Given the description of an element on the screen output the (x, y) to click on. 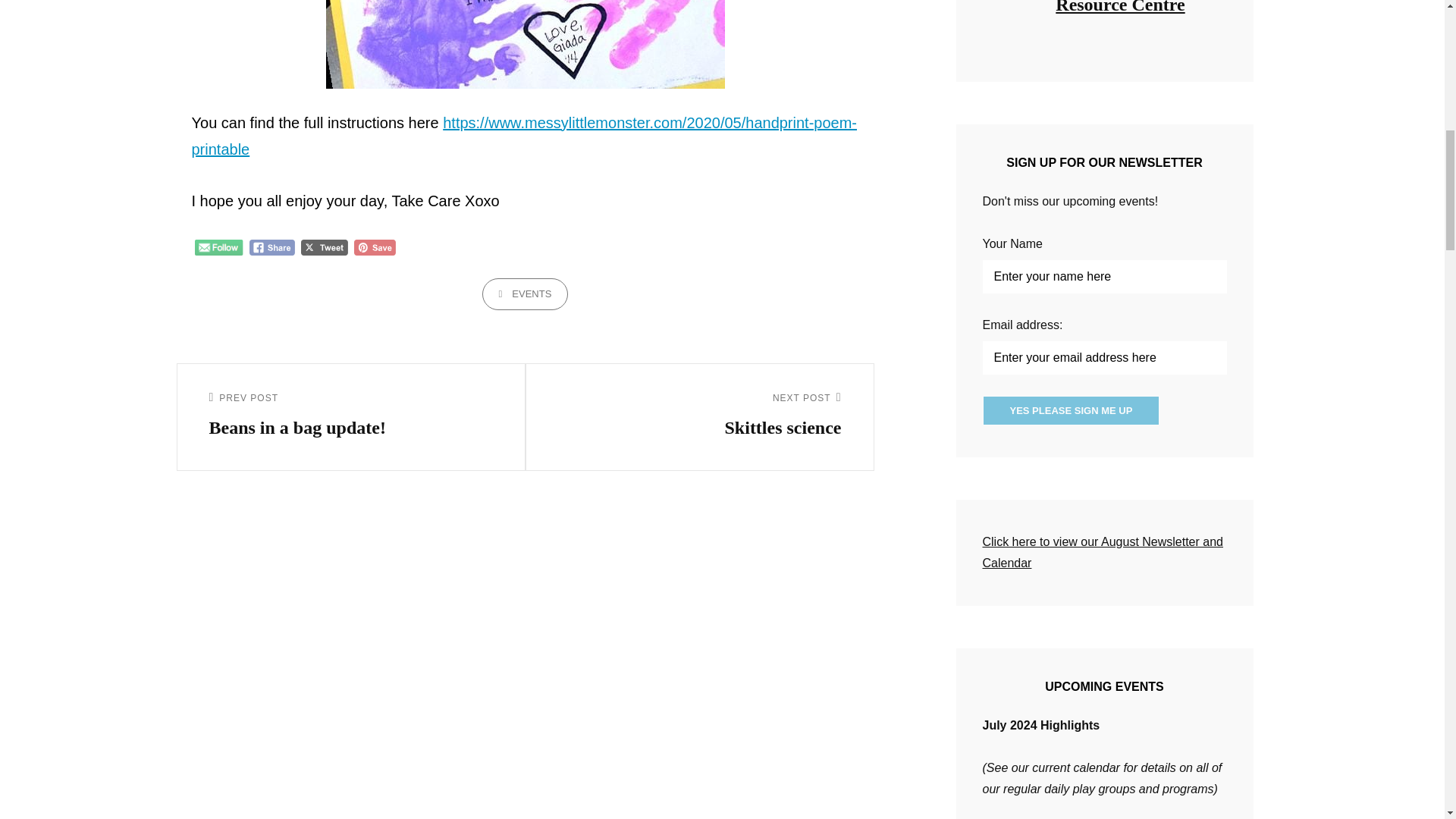
Tweet (324, 247)
Yes please sign me up (1071, 410)
Pin Share (374, 247)
Facebook Share (271, 247)
